Given the description of an element on the screen output the (x, y) to click on. 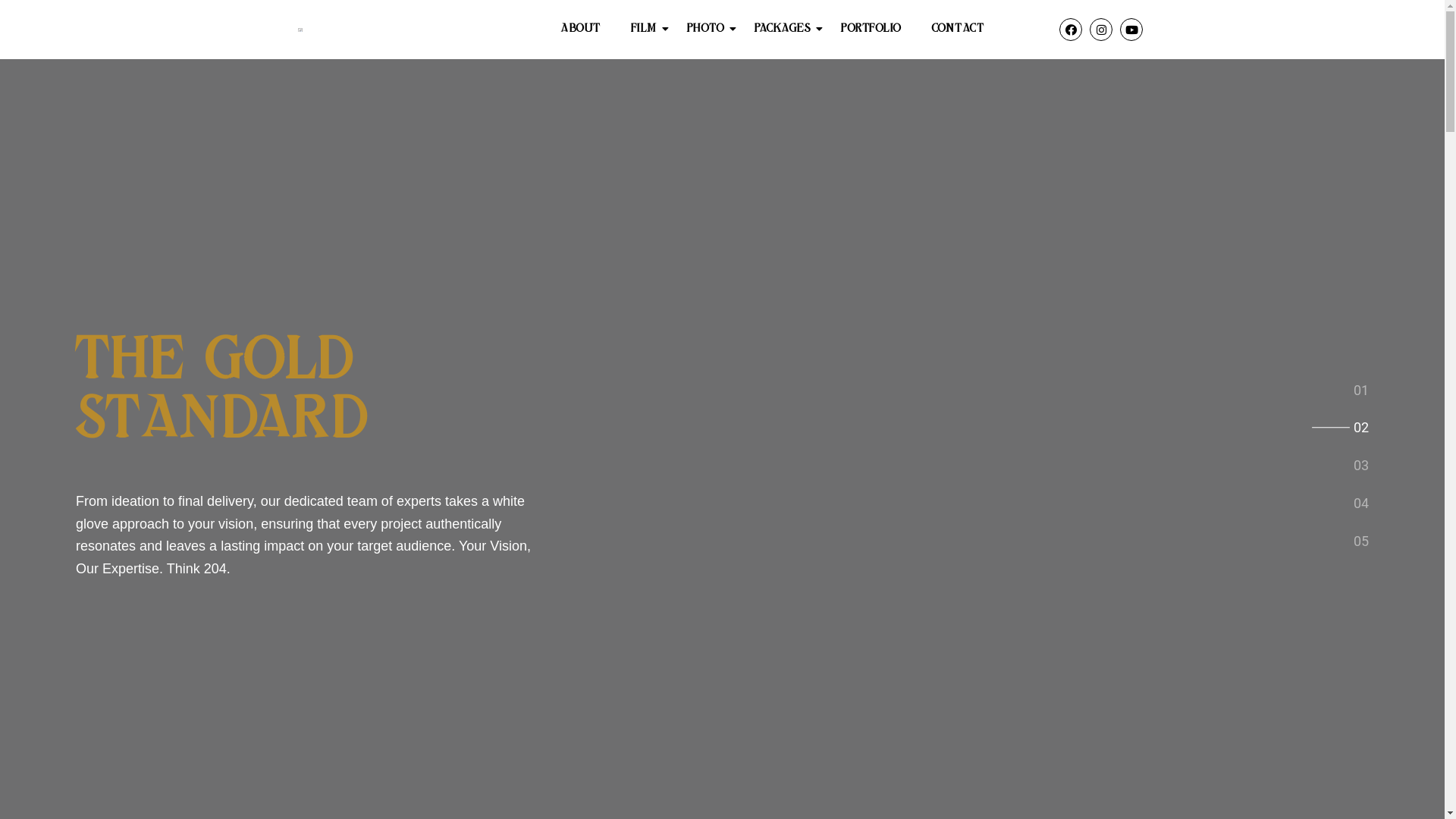
Skip to content Element type: text (15, 7)
Packages Element type: text (782, 29)
Film Element type: text (643, 29)
Portfolio Element type: text (871, 29)
About Element type: text (580, 29)
Contact Element type: text (957, 29)
Photo Element type: text (705, 29)
